Given the description of an element on the screen output the (x, y) to click on. 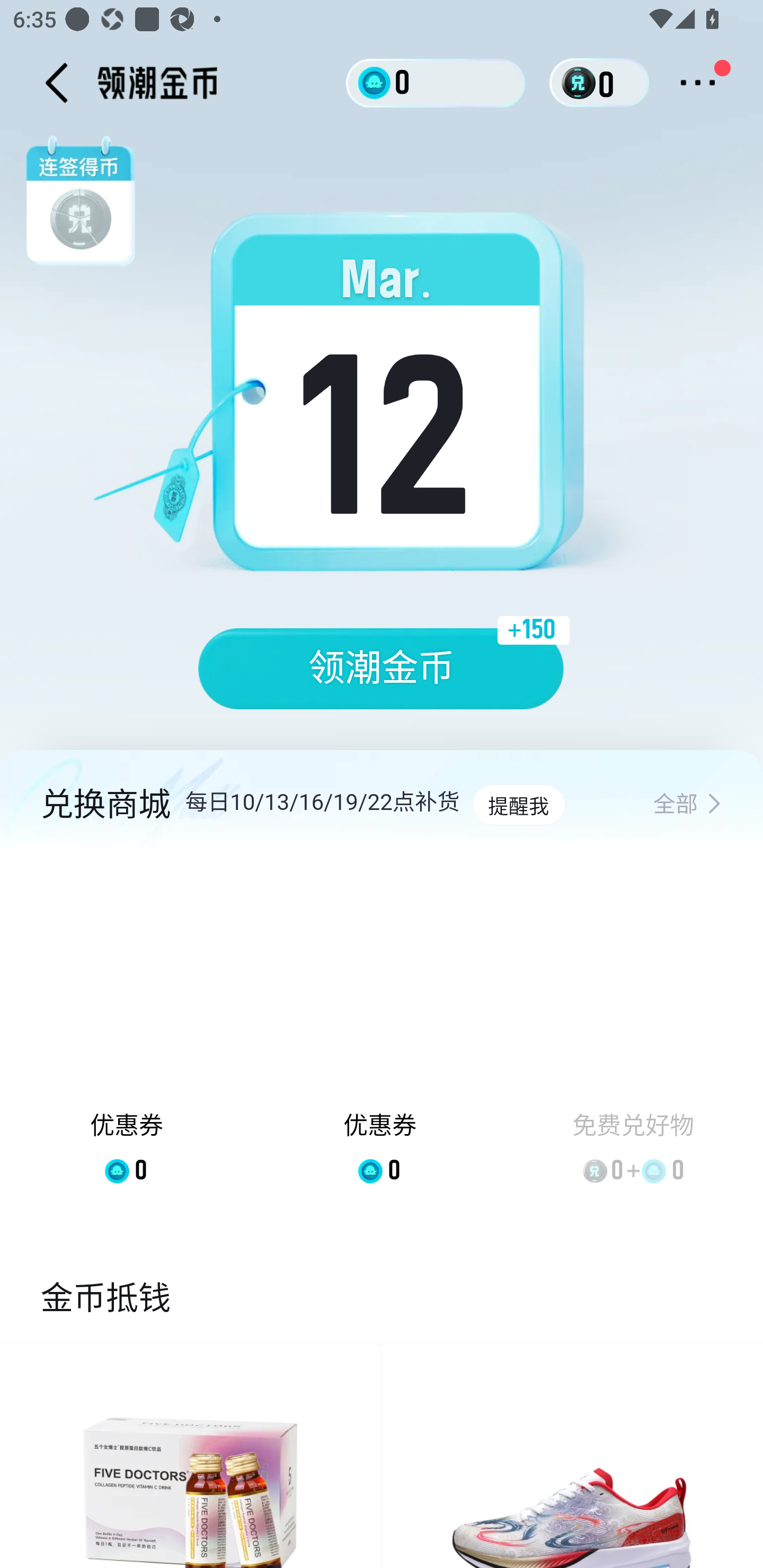
0 (435, 82)
format,webp 0 (581, 83)
领潮金币 + 150 (381, 668)
提醒我 (518, 805)
全部 (687, 804)
优惠券 0 (127, 1031)
优惠券 0 (379, 1031)
免费兑好物 0 0 (633, 1031)
免费兑好物 0 0 (633, 1031)
免费兑好物 0 0 (633, 1031)
